Given the description of an element on the screen output the (x, y) to click on. 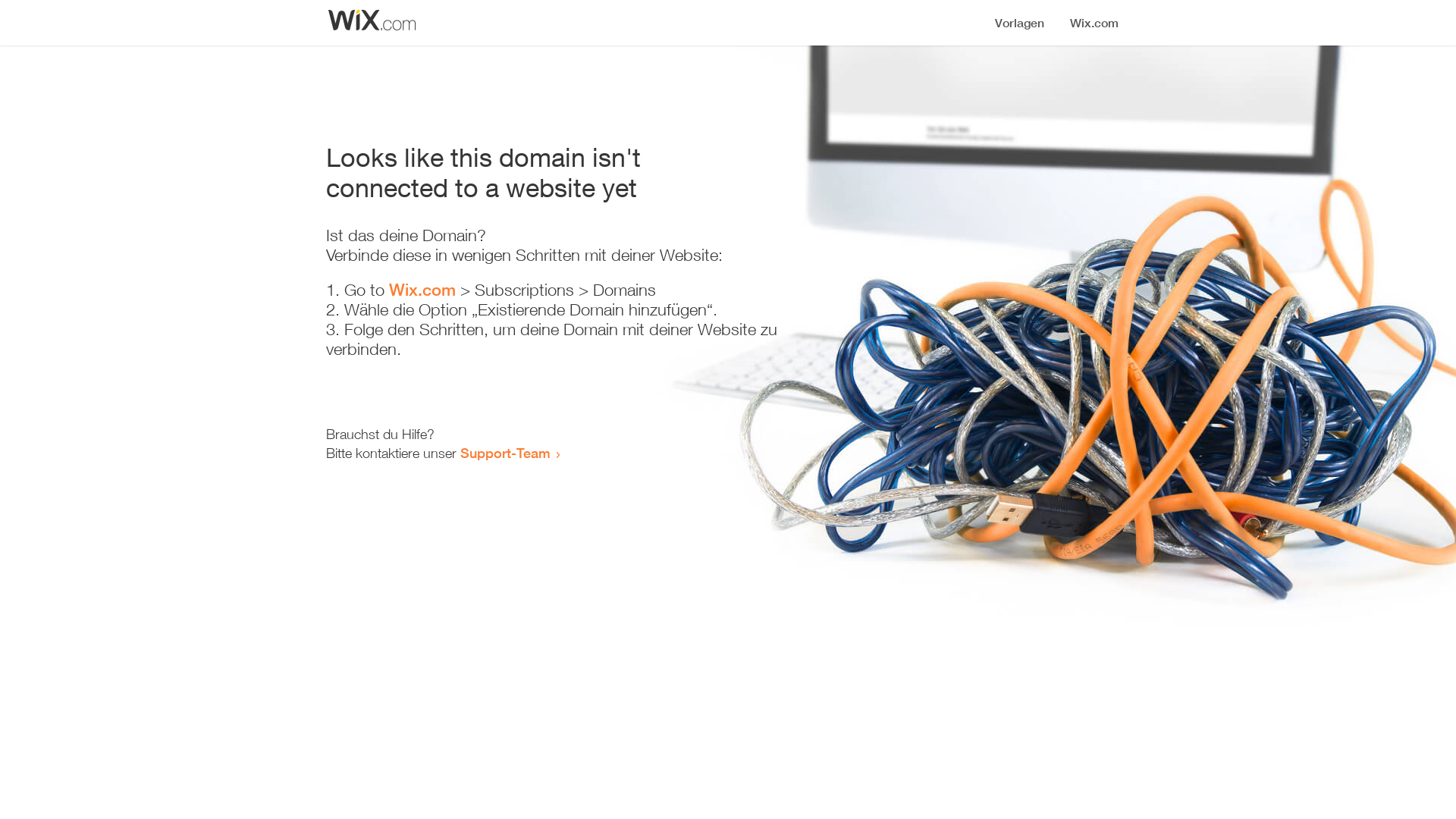
Wix.com Element type: text (422, 289)
Support-Team Element type: text (505, 452)
